Given the description of an element on the screen output the (x, y) to click on. 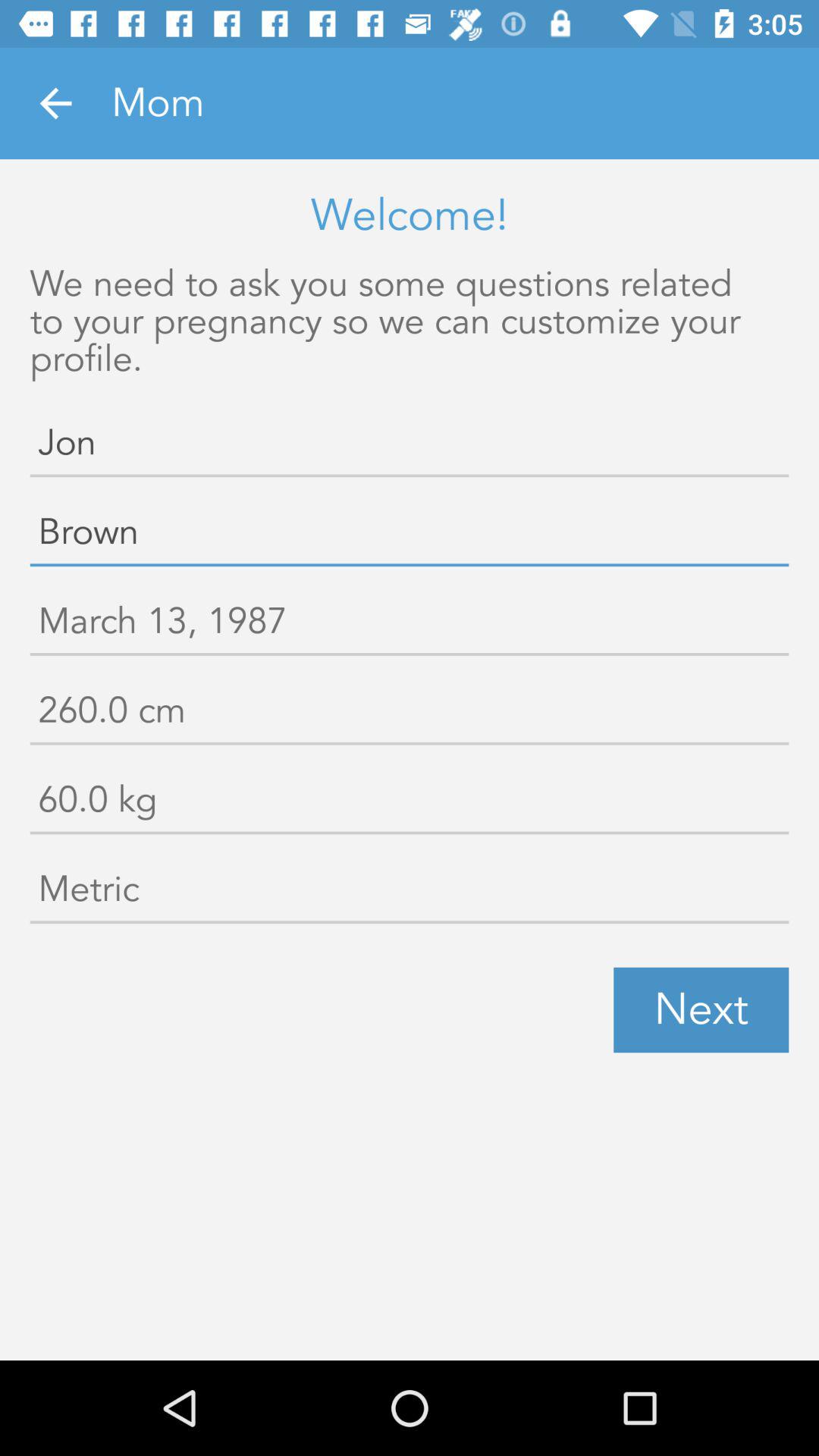
select the icon at the bottom right corner (700, 1009)
